Given the description of an element on the screen output the (x, y) to click on. 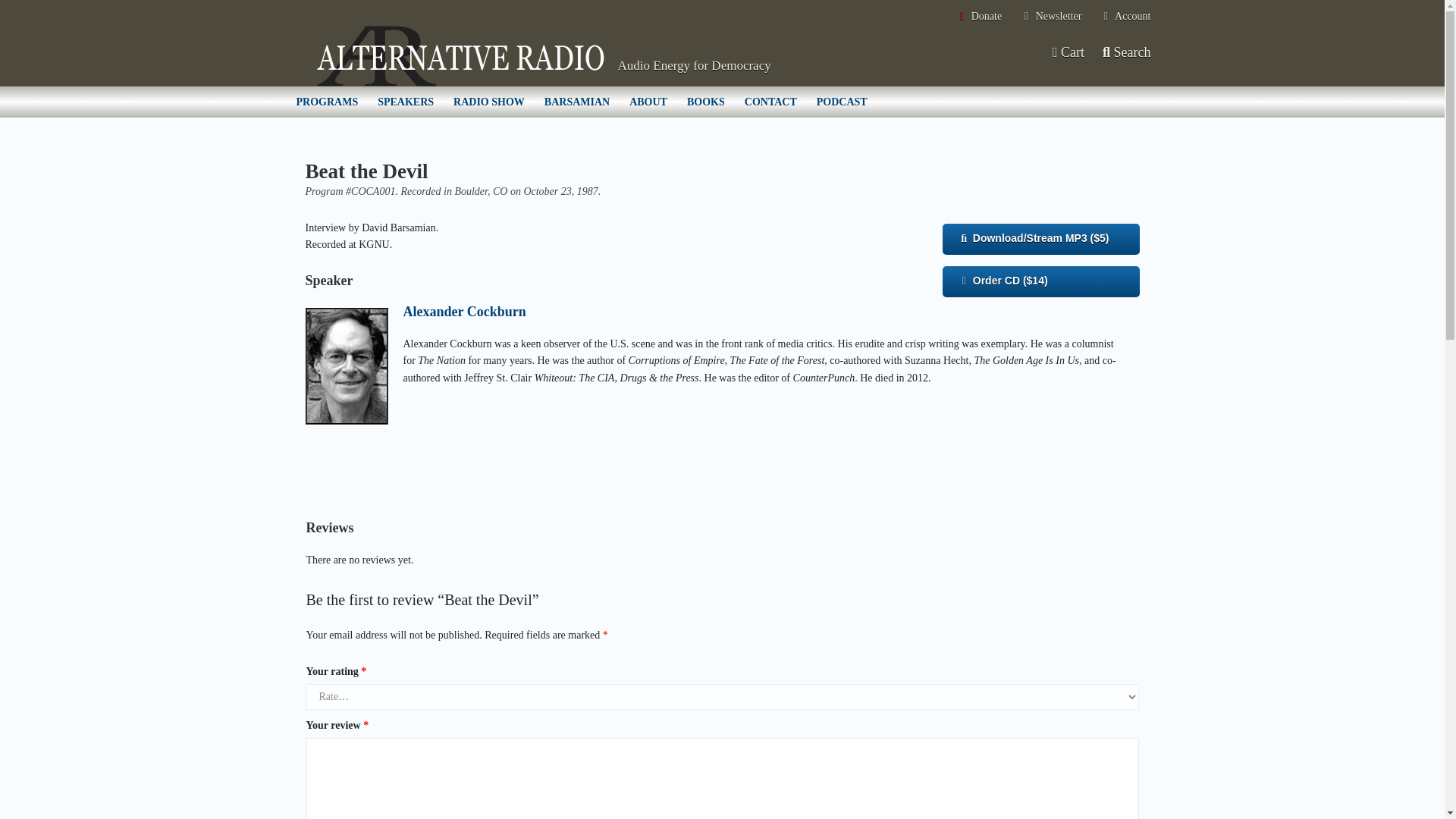
Cart (1066, 52)
PROGRAMS (327, 101)
SPEAKERS (406, 101)
Alternative Radio (460, 55)
Donate (978, 16)
Account (1125, 16)
Search (1126, 52)
Newsletter (1050, 16)
